Given the description of an element on the screen output the (x, y) to click on. 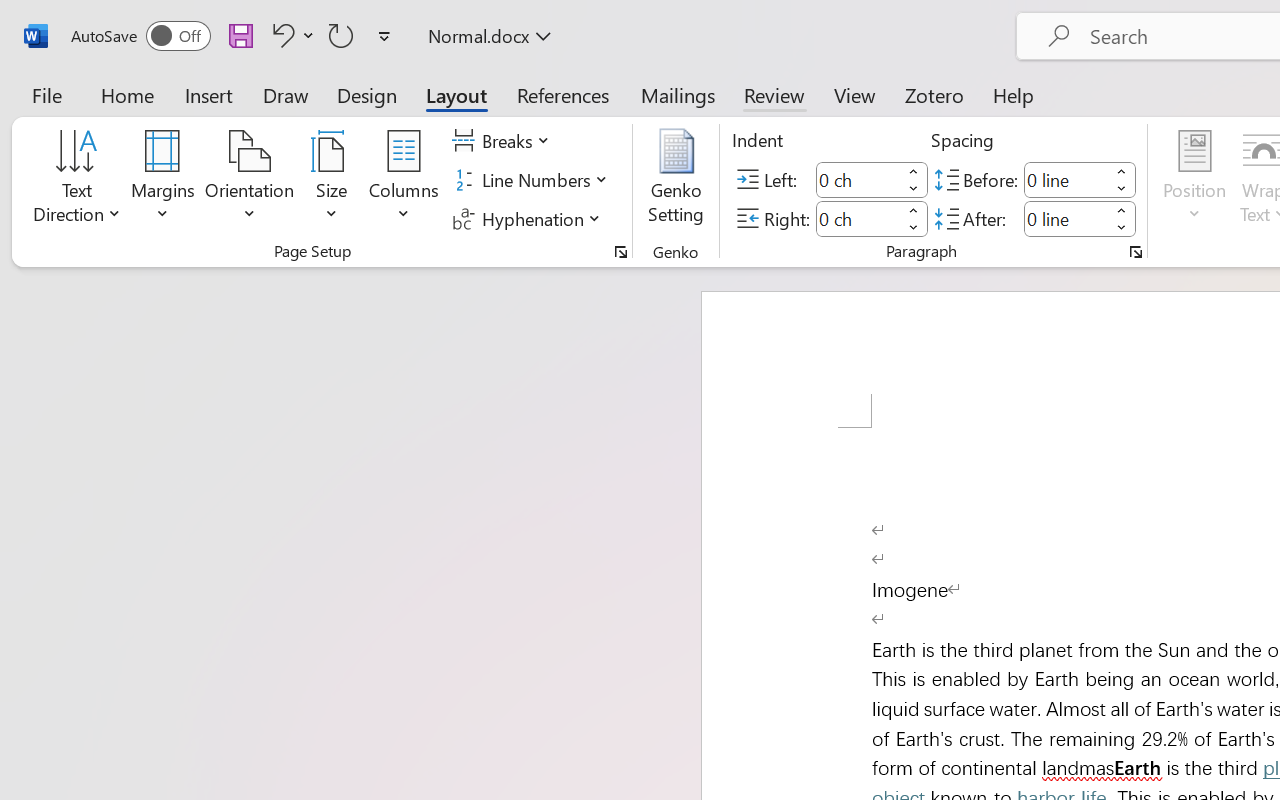
Hyphenation (529, 218)
Indent Right (858, 218)
Undo Paste Destination Formatting (290, 35)
Undo Paste Destination Formatting (280, 35)
Genko Setting... (676, 179)
Columns (404, 179)
Indent Left (858, 179)
Line Numbers (532, 179)
